Given the description of an element on the screen output the (x, y) to click on. 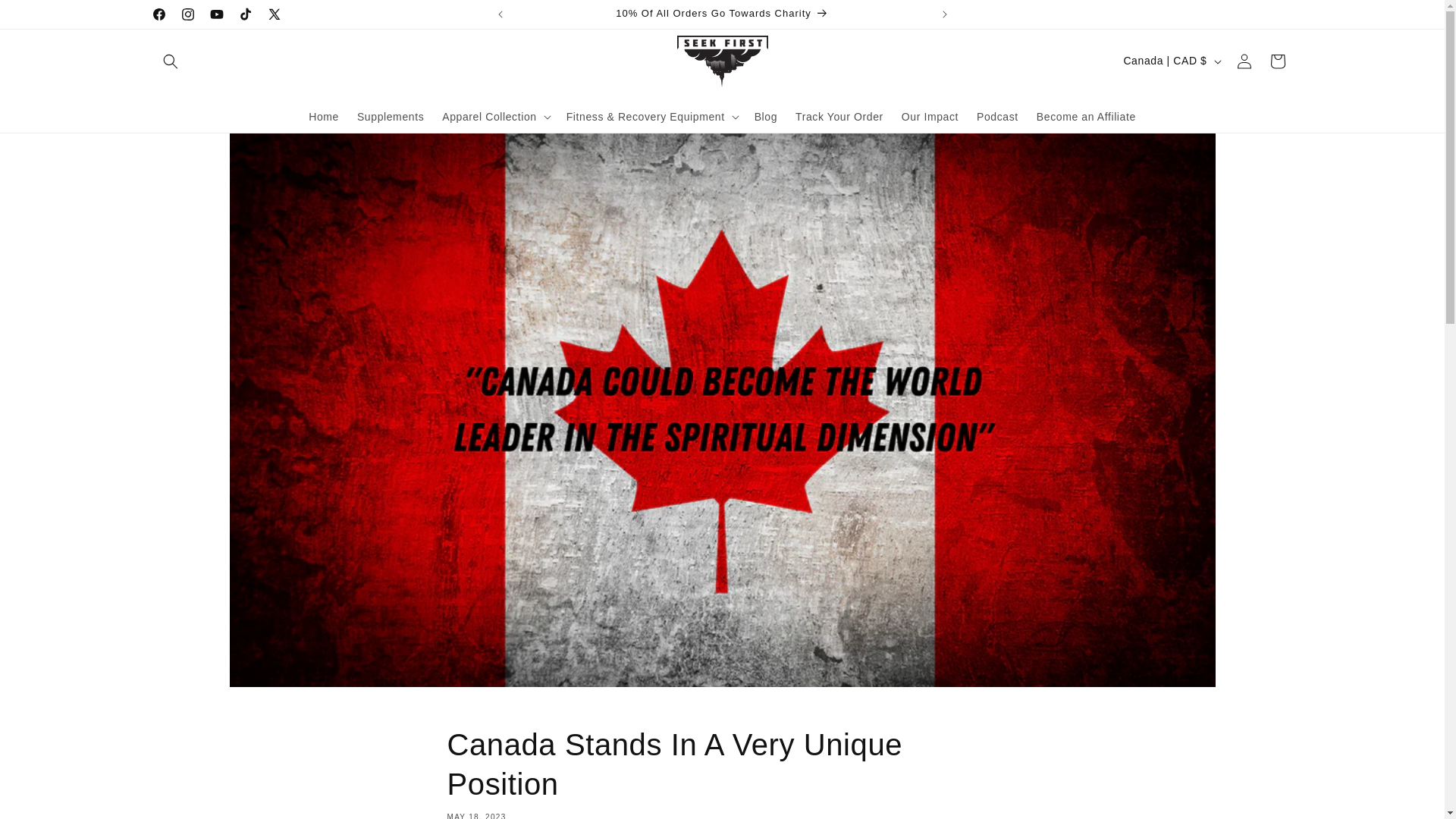
TikTok (244, 14)
Home (323, 115)
Instagram (187, 14)
Facebook (158, 14)
Skip to content (45, 17)
Supplements (721, 771)
YouTube (389, 115)
